Given the description of an element on the screen output the (x, y) to click on. 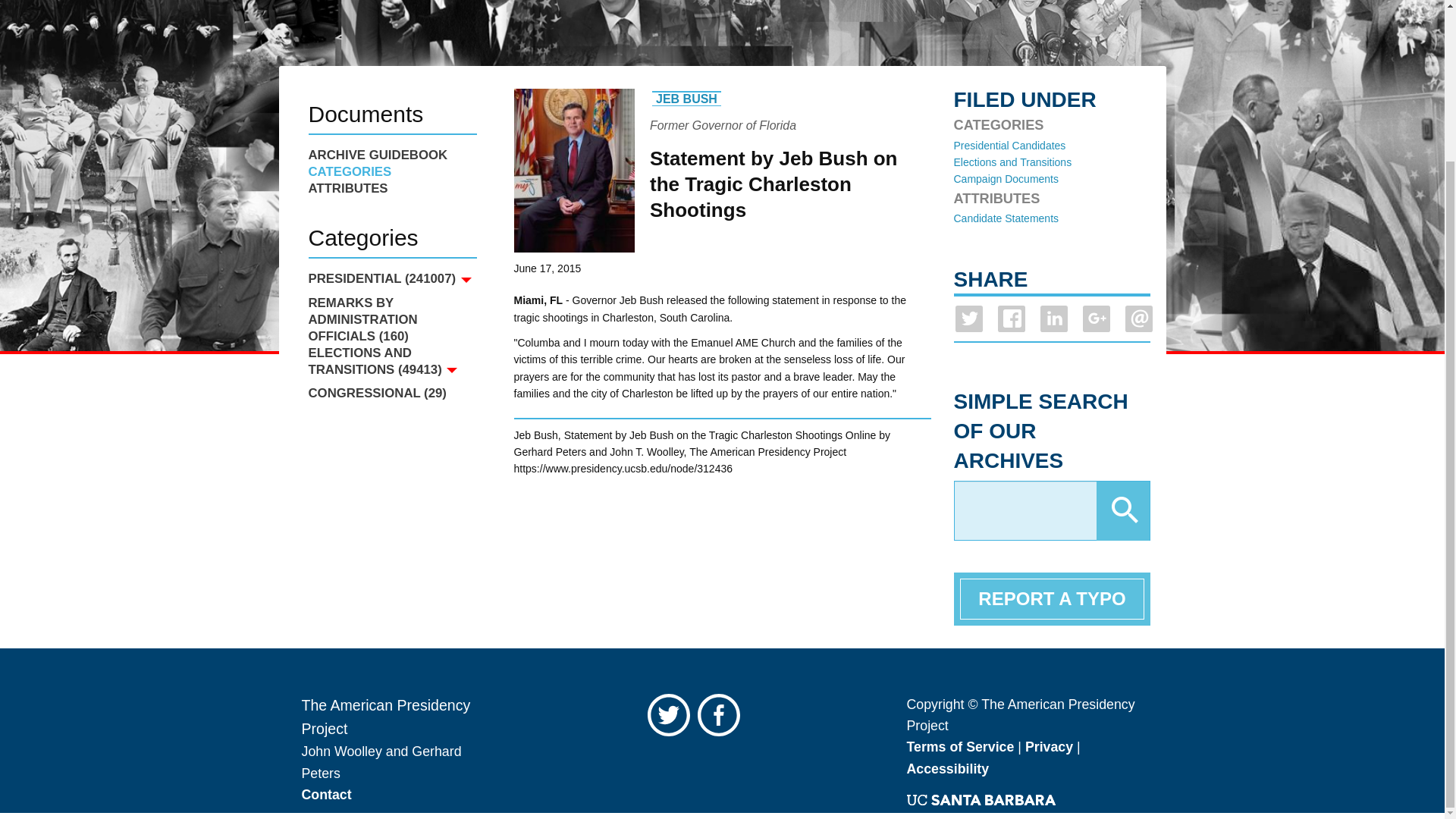
ATTRIBUTES (391, 188)
CATEGORIES (391, 171)
ARCHIVE GUIDEBOOK (391, 155)
